Given the description of an element on the screen output the (x, y) to click on. 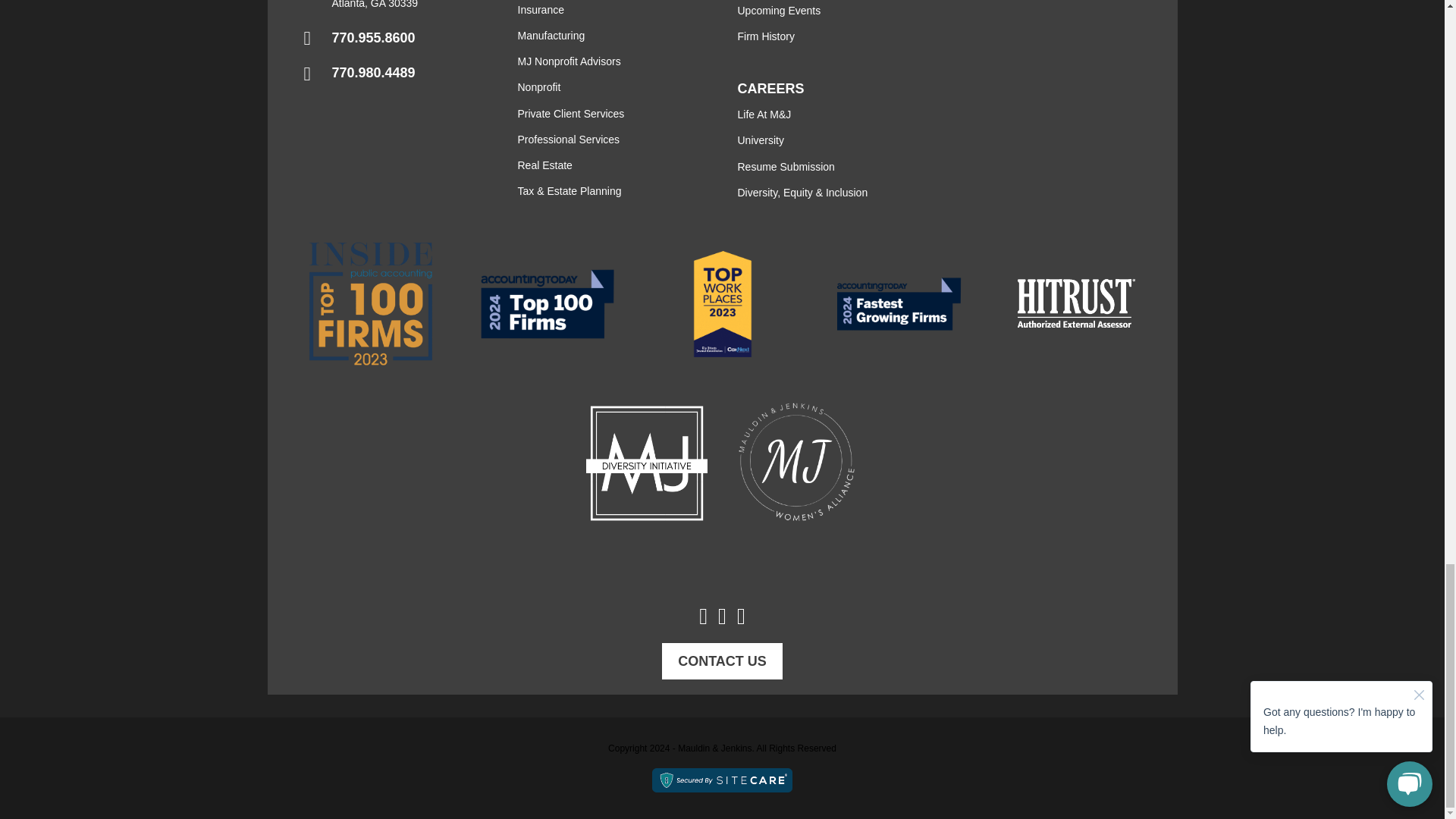
Secured by SiteCare (722, 780)
AT-Top 100 Firms-Logo-2024 (545, 304)
AT-Fastest Growing Firms-Logo-2024 (898, 302)
